Given the description of an element on the screen output the (x, y) to click on. 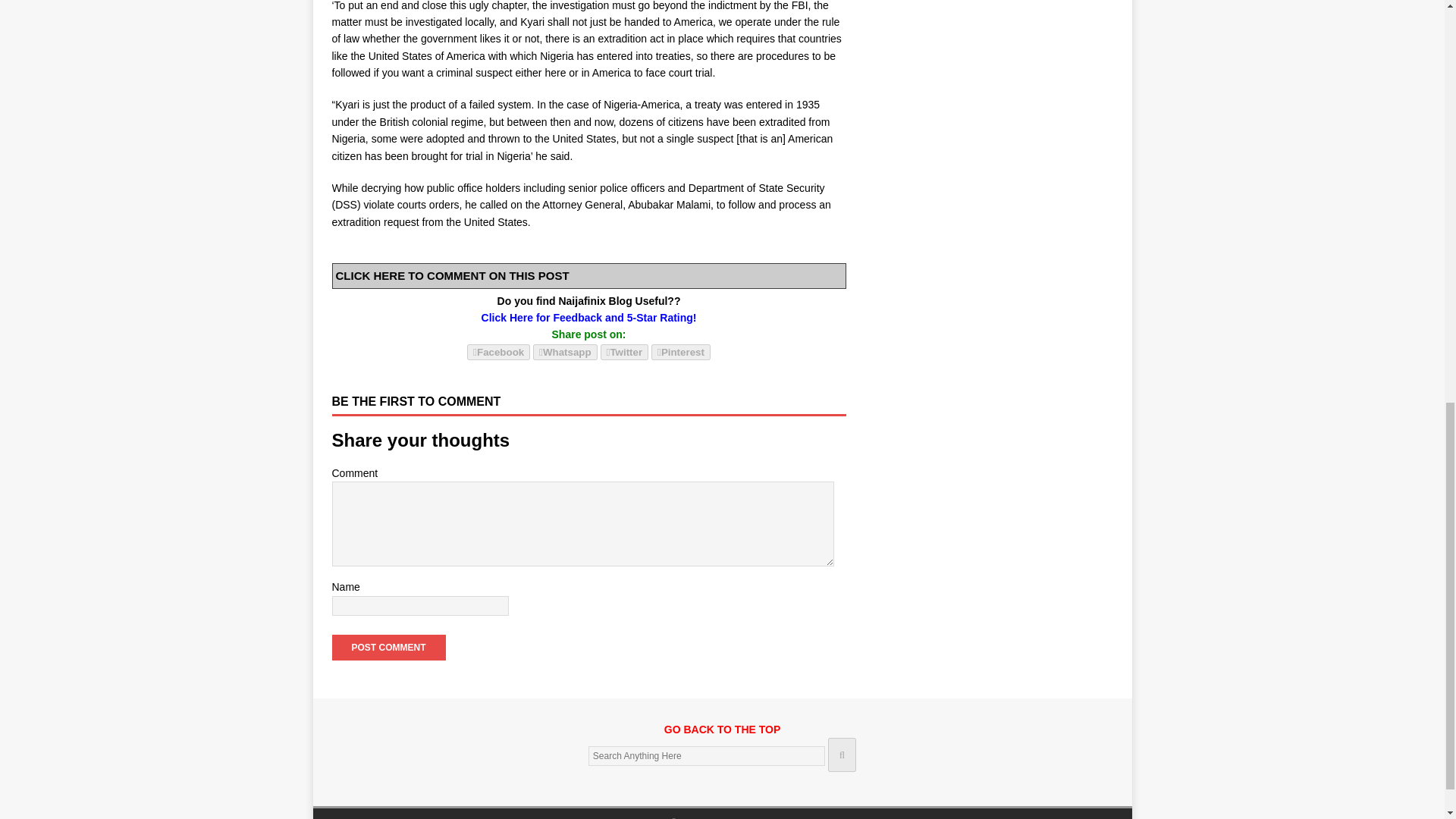
Pinterest (680, 351)
Post Comment (388, 647)
Facebook (498, 351)
Post Comment (388, 647)
CLICK HERE TO COMMENT ON THIS POST (451, 275)
Click Here for Feedback and 5-Star Rating! (589, 317)
Twitter (624, 351)
Pinterest (680, 351)
Twitter (624, 351)
GO BACK TO THE TOP (722, 736)
